Given the description of an element on the screen output the (x, y) to click on. 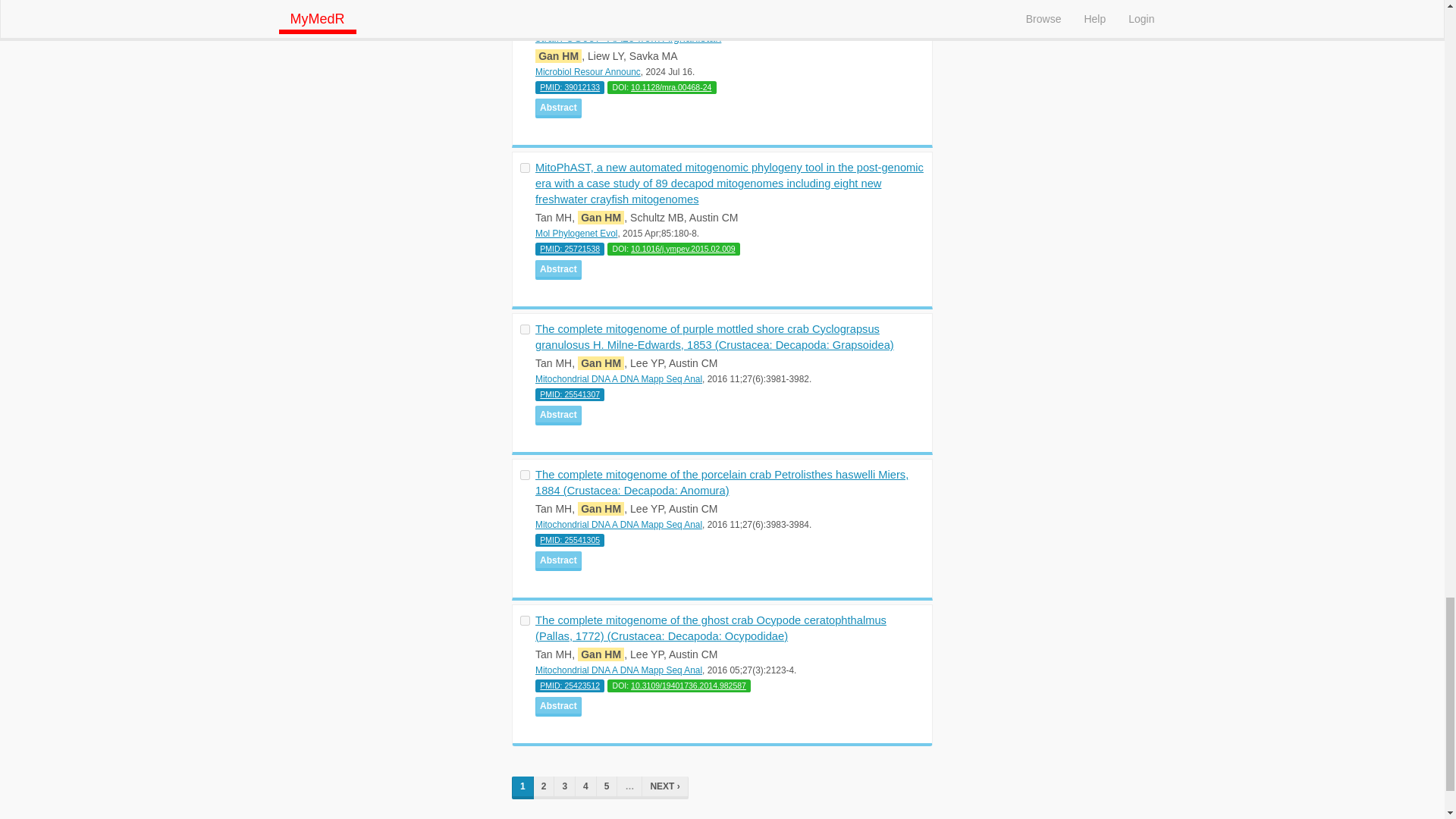
on (524, 329)
on (524, 22)
on (524, 474)
on (524, 167)
